Given the description of an element on the screen output the (x, y) to click on. 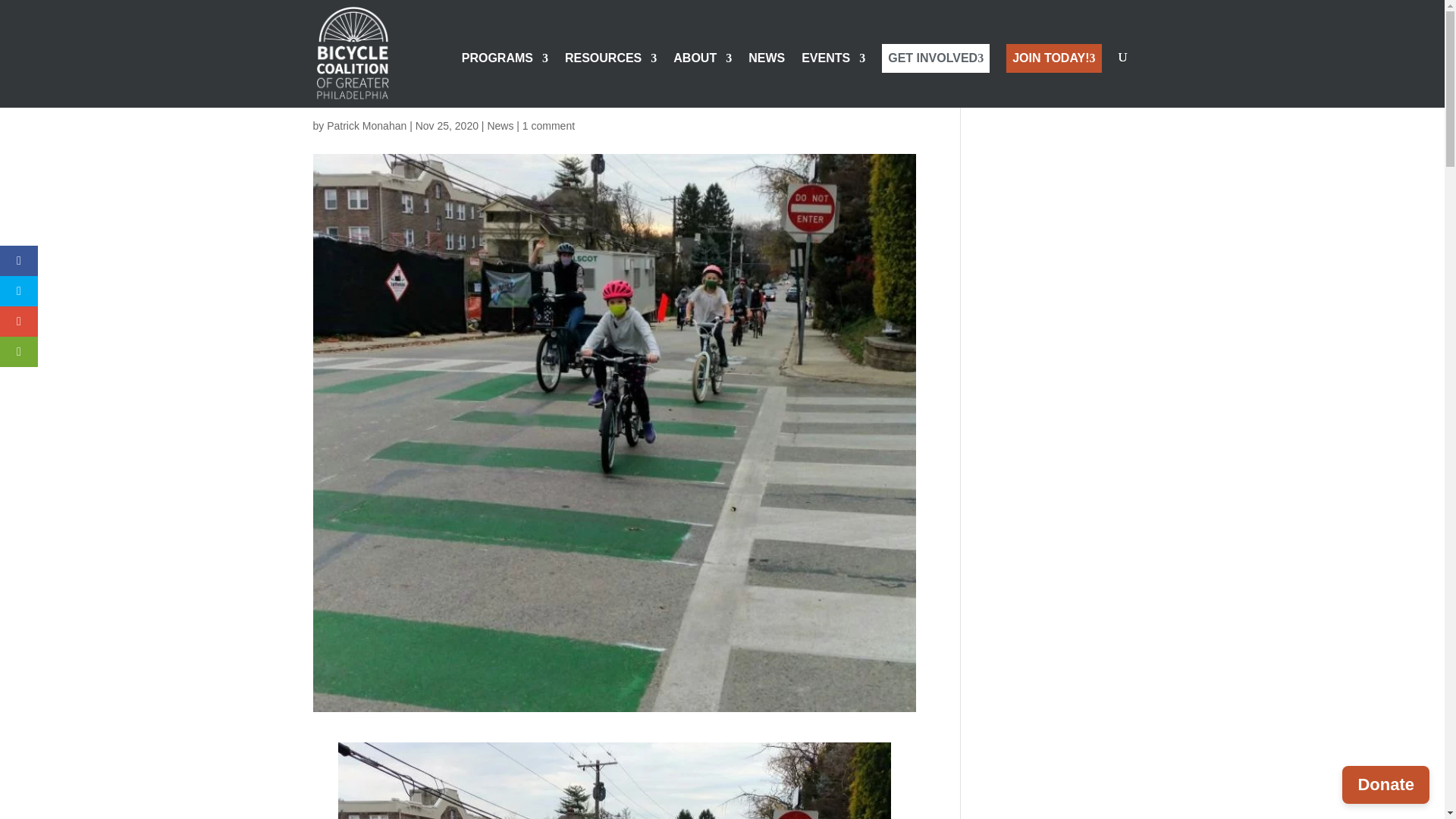
RESOURCES (610, 80)
ABOUT (702, 80)
Posts by Patrick Monahan (366, 125)
PROGRAMS (504, 80)
Search (1106, 85)
